Given the description of an element on the screen output the (x, y) to click on. 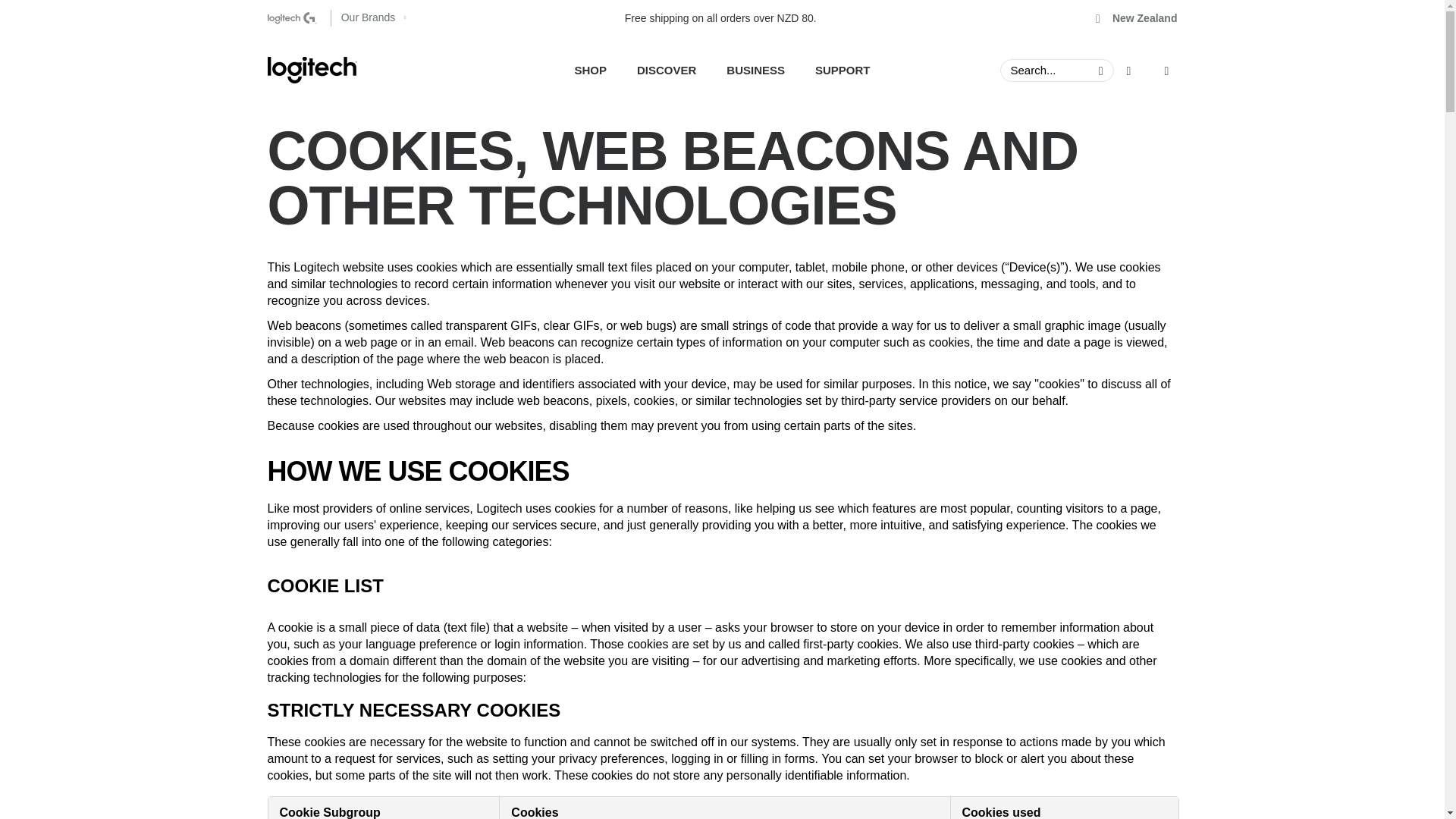
New Zealand (1136, 18)
Our Brands (372, 18)
SHOP (722, 70)
